Given the description of an element on the screen output the (x, y) to click on. 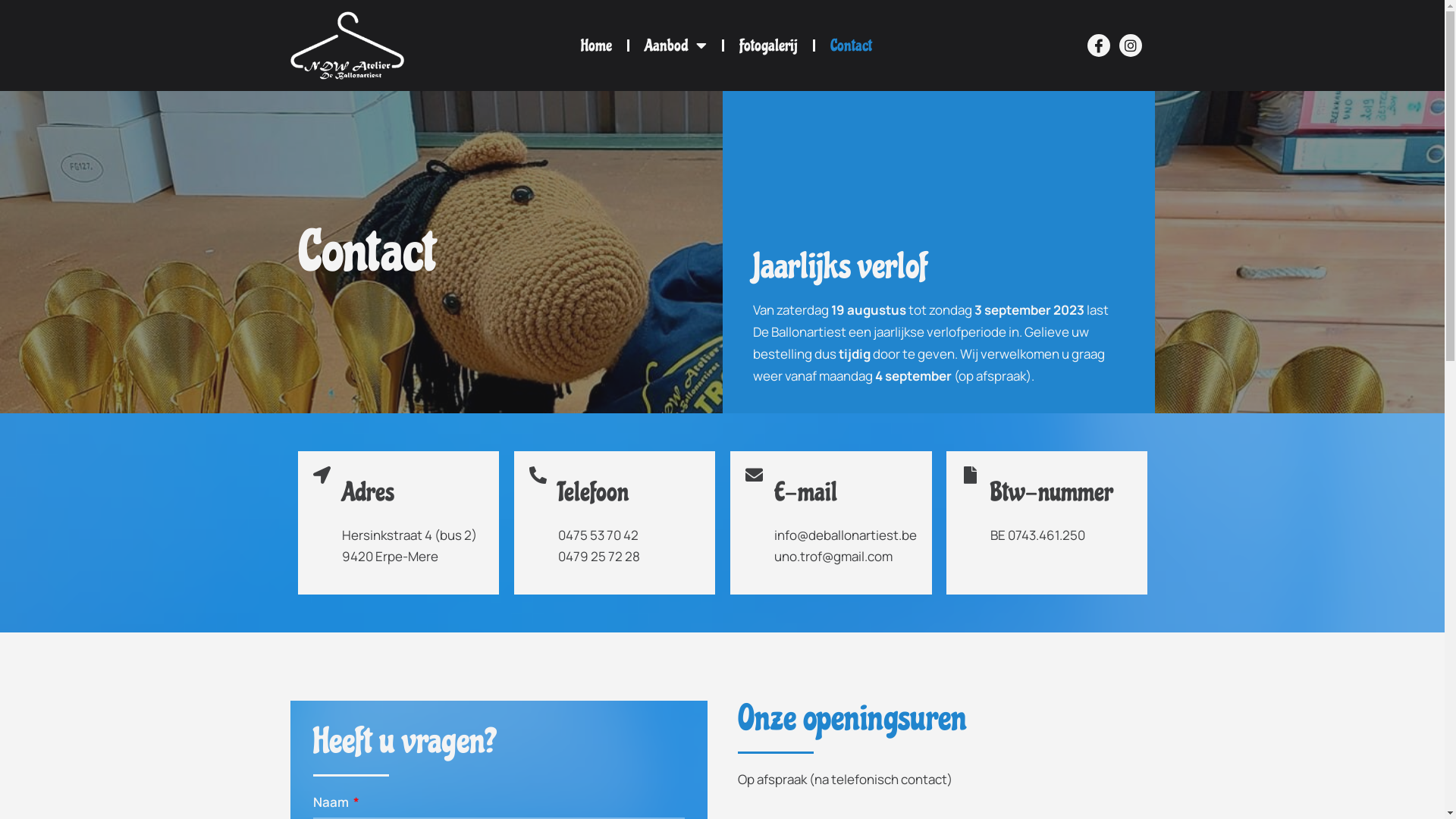
uno.trof@gmail.com Element type: text (832, 555)
Telefoon Element type: text (593, 492)
Home Element type: text (596, 45)
Aanbod Element type: text (675, 45)
Adres Element type: text (367, 492)
0479 25 72 28 Element type: text (599, 555)
Fotogalerij Element type: text (768, 45)
Contact Element type: text (851, 45)
E-mail Element type: text (804, 492)
